Given the description of an element on the screen output the (x, y) to click on. 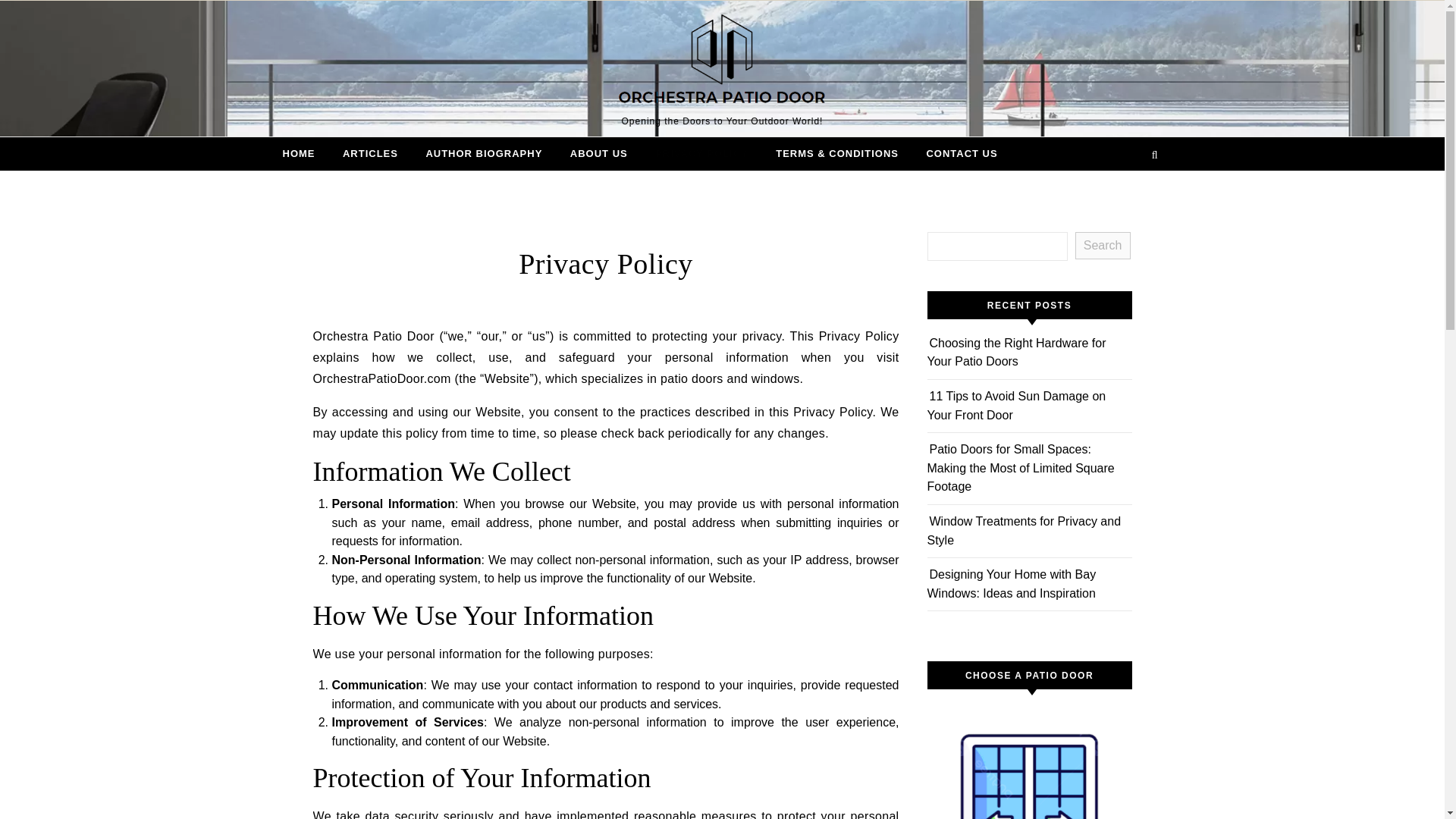
HOME (304, 153)
CONTACT US (955, 153)
Window Treatments for Privacy and Style (1023, 531)
Orchestra Patio Door (721, 61)
Designing Your Home with Bay Windows: Ideas and Inspiration (1011, 583)
AUTHOR BIOGRAPHY (483, 153)
Choosing the Right Hardware for Your Patio Doors (1015, 352)
11 Tips to Avoid Sun Damage on Your Front Door (1015, 405)
PRIVACY POLICY (701, 153)
ARTICLES (370, 153)
Search (1103, 245)
ABOUT US (598, 153)
